Given the description of an element on the screen output the (x, y) to click on. 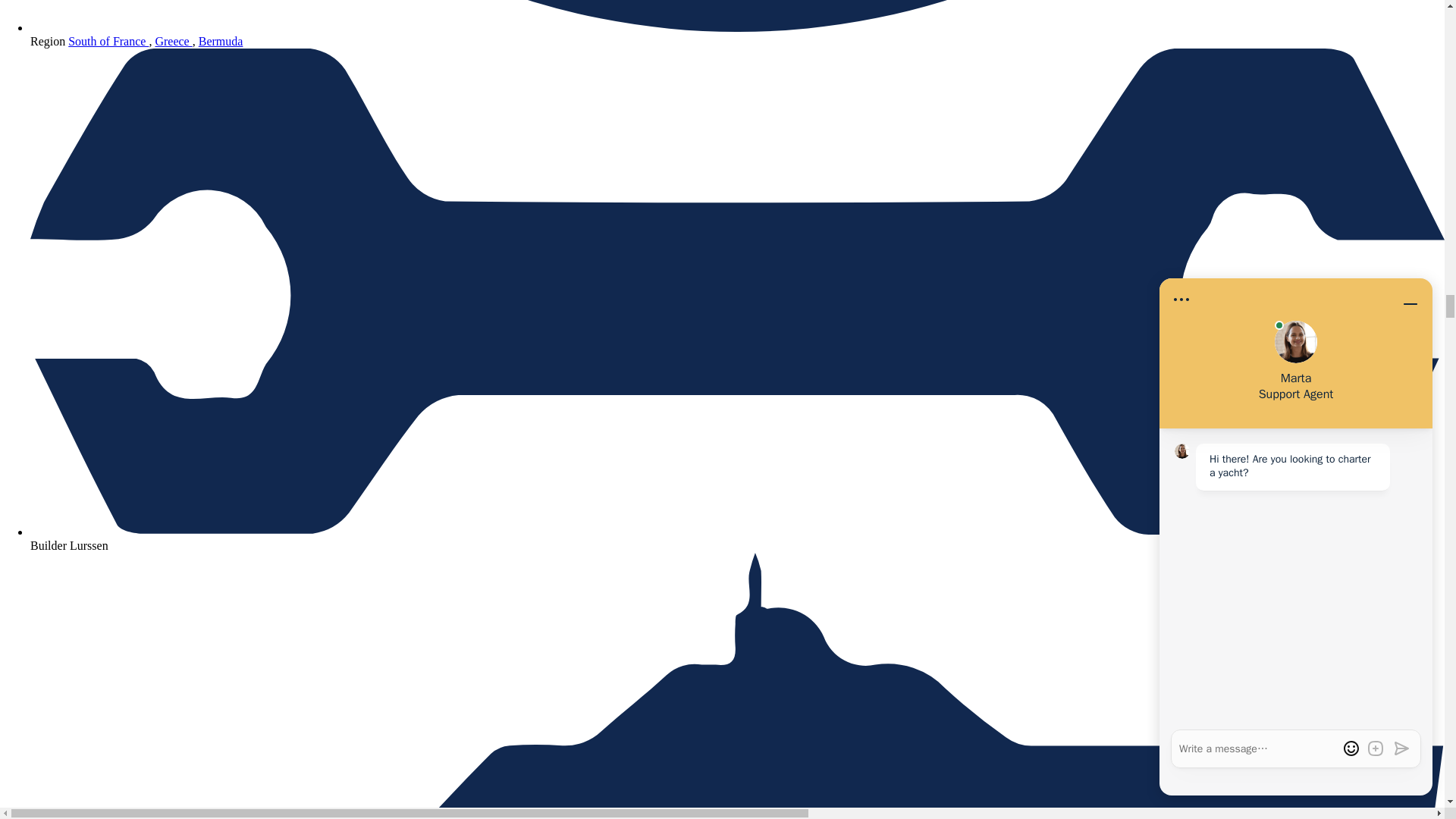
South of France (108, 41)
Greece (173, 41)
